Given the description of an element on the screen output the (x, y) to click on. 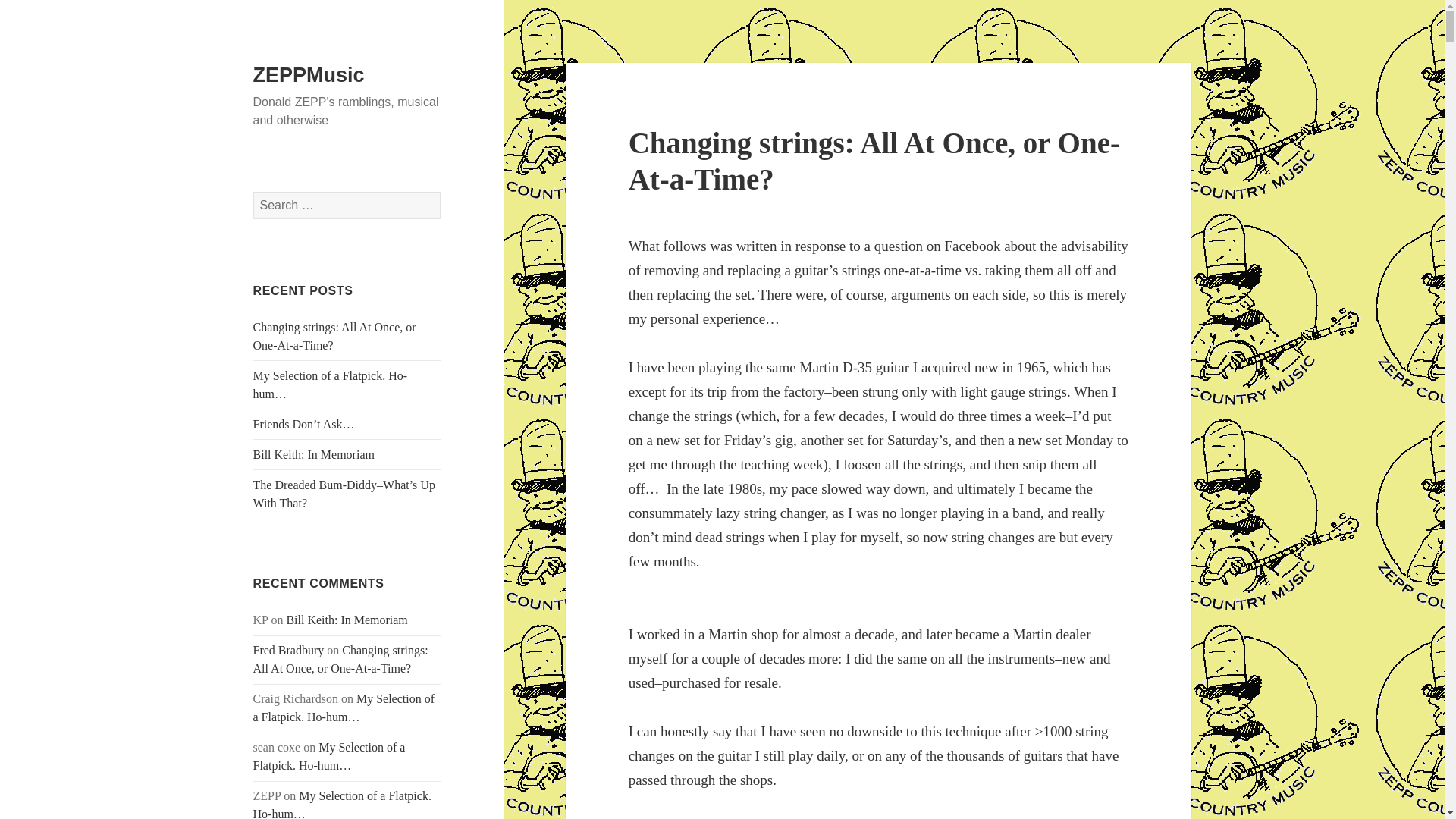
Changing strings: All At Once, or One-At-a-Time? (334, 336)
ZEPPMusic (309, 74)
Changing strings: All At Once, or One-At-a-Time? (873, 160)
Fred Bradbury (288, 649)
Bill Keith: In Memoriam (313, 454)
Changing strings: All At Once, or One-At-a-Time? (340, 658)
Bill Keith: In Memoriam (346, 619)
